Given the description of an element on the screen output the (x, y) to click on. 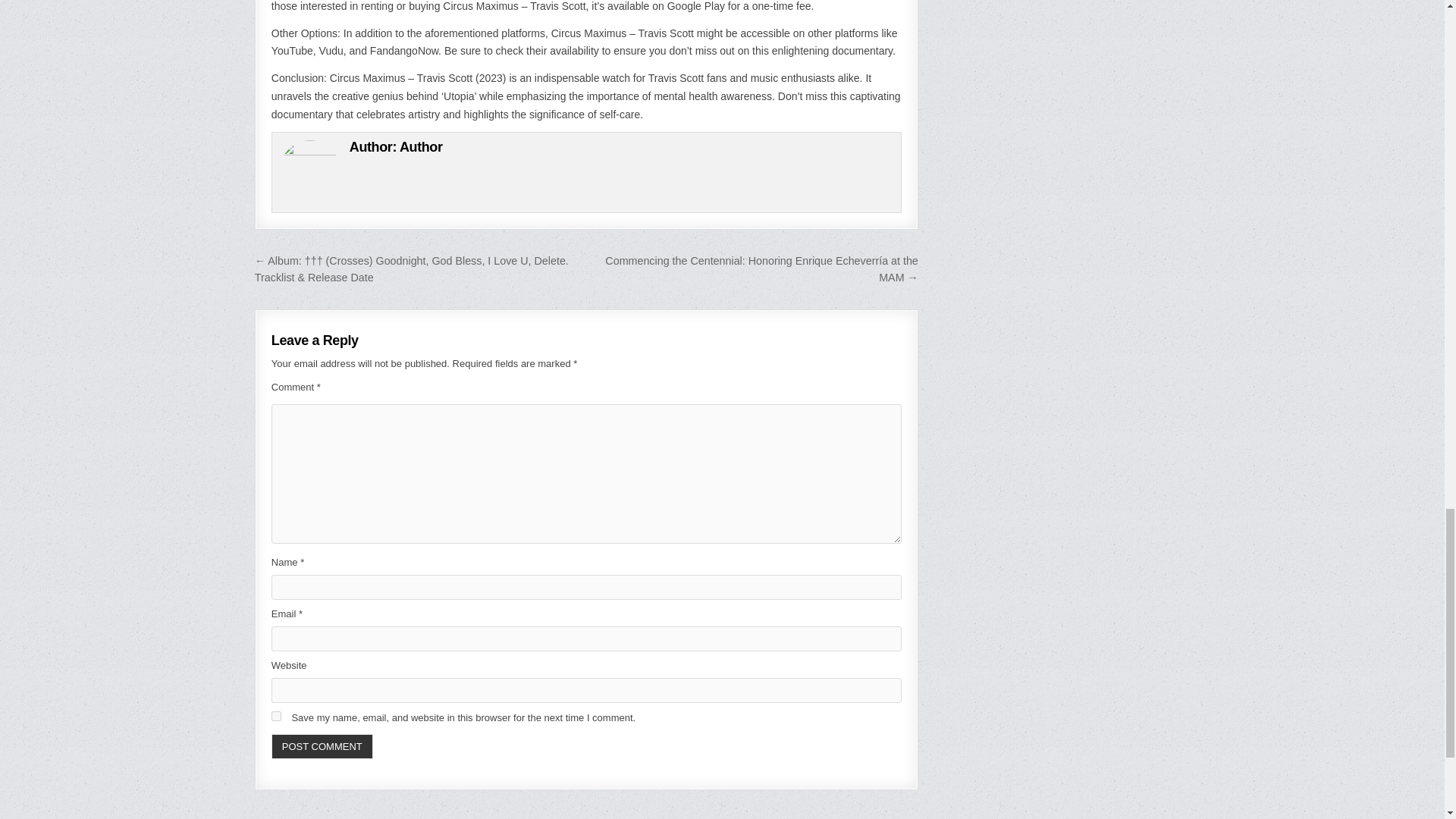
Author (420, 146)
Post Comment (321, 746)
yes (275, 716)
Post Comment (321, 746)
